Given the description of an element on the screen output the (x, y) to click on. 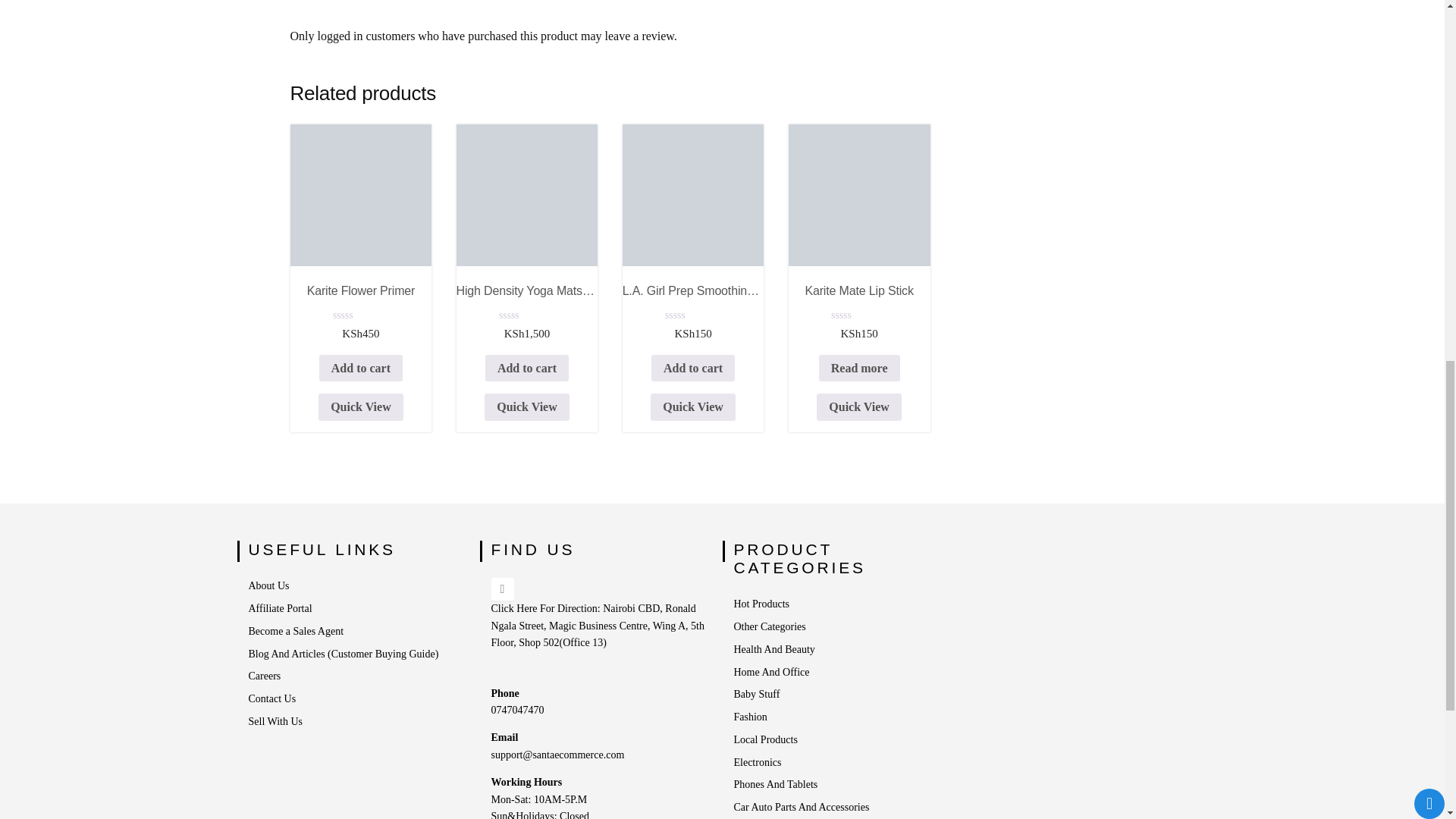
Add to cart (526, 368)
Add to cart (360, 368)
Quick View (692, 406)
Quick View (526, 406)
Add to cart (692, 368)
Quick View (360, 406)
